Given the description of an element on the screen output the (x, y) to click on. 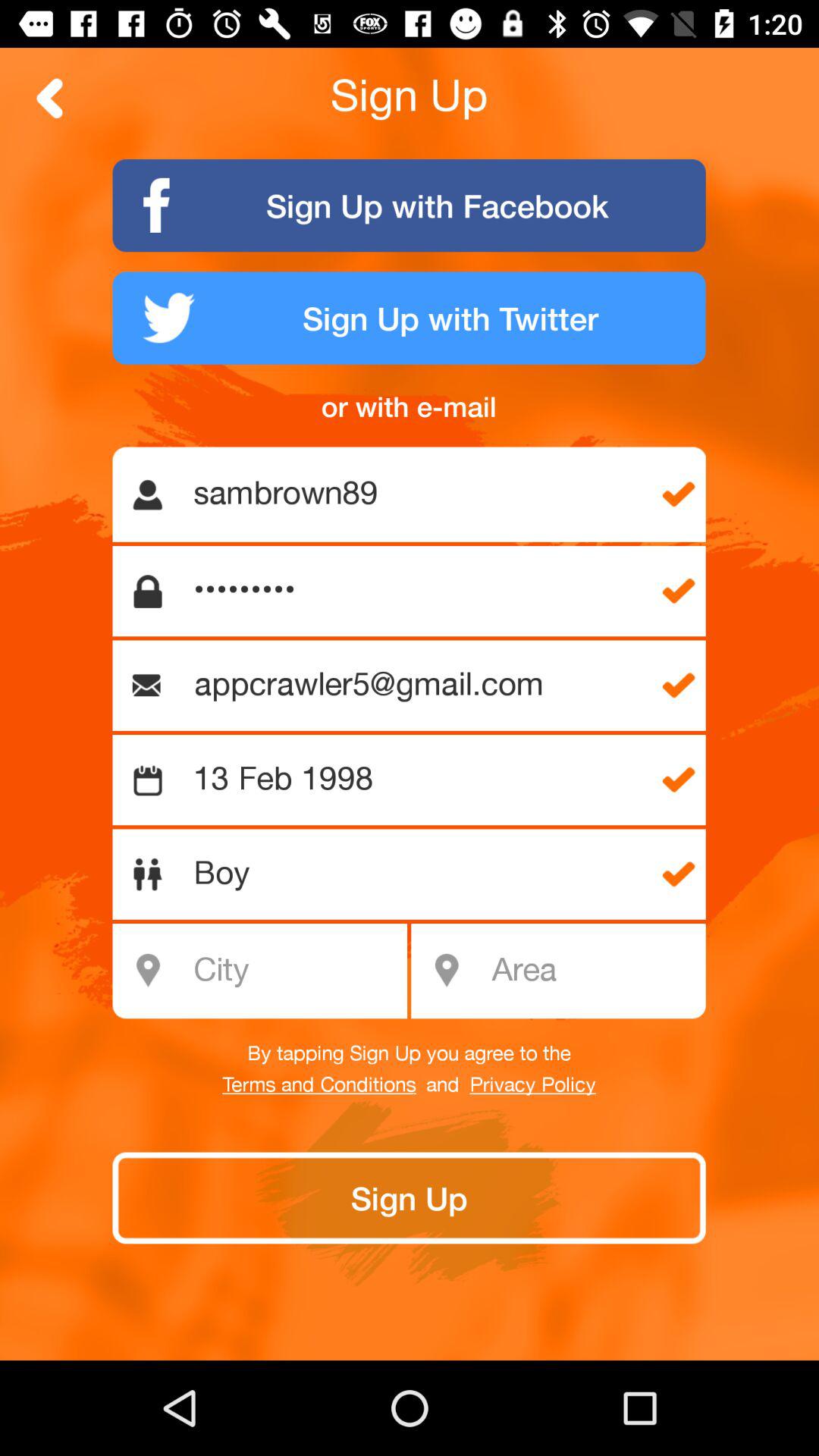
turn on the item below by tapping sign (319, 1085)
